Given the description of an element on the screen output the (x, y) to click on. 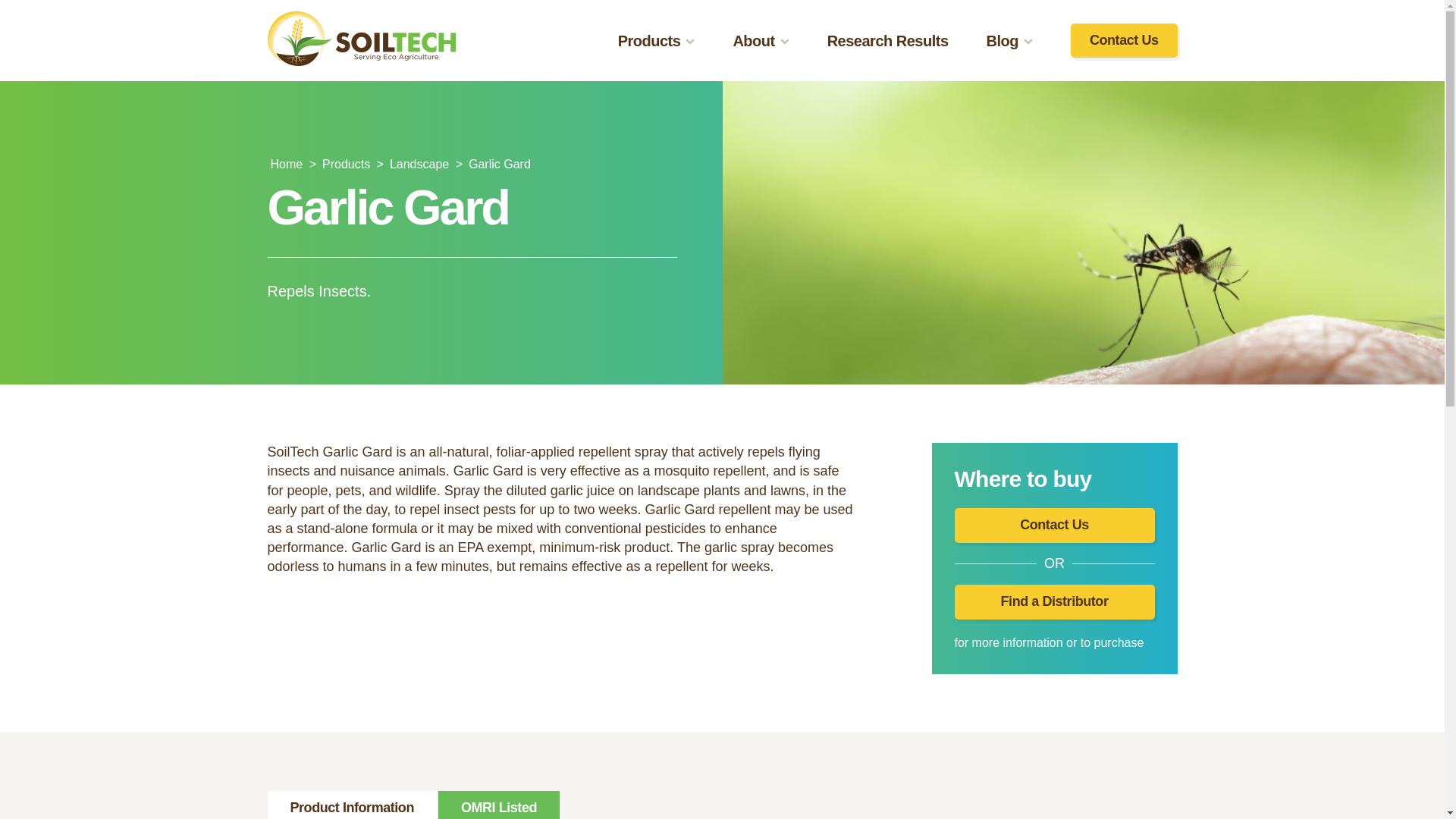
Products (656, 40)
Breadcrumb link to Landscape (419, 164)
Breadcrumb link to Products (345, 164)
Breadcrumb link to Home (285, 164)
